Given the description of an element on the screen output the (x, y) to click on. 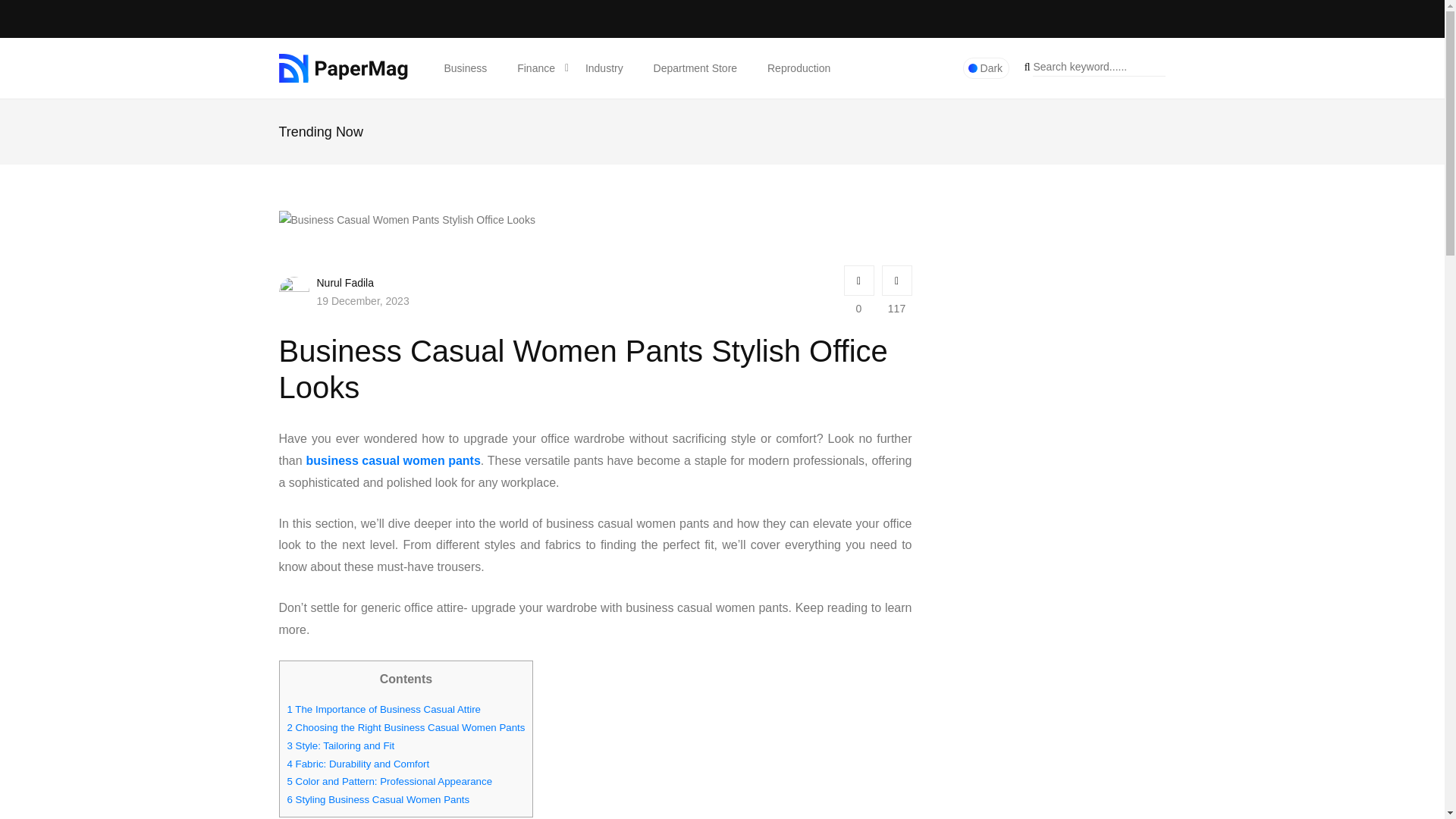
5 Color and Pattern: Professional Appearance (389, 782)
3 Style: Tailoring and Fit (340, 746)
business casual women pants (392, 461)
6 Styling Business Casual Women Pants (377, 800)
4 Fabric: Durability and Comfort (357, 764)
Department Store (695, 67)
1 The Importance of Business Casual Attire (383, 710)
Reproduction (799, 67)
Business Casual Women Pants Stylish Office Looks (407, 219)
2 Choosing the Right Business Casual Women Pants (405, 728)
Business (465, 67)
Finance (536, 67)
Industry (604, 67)
